Given the description of an element on the screen output the (x, y) to click on. 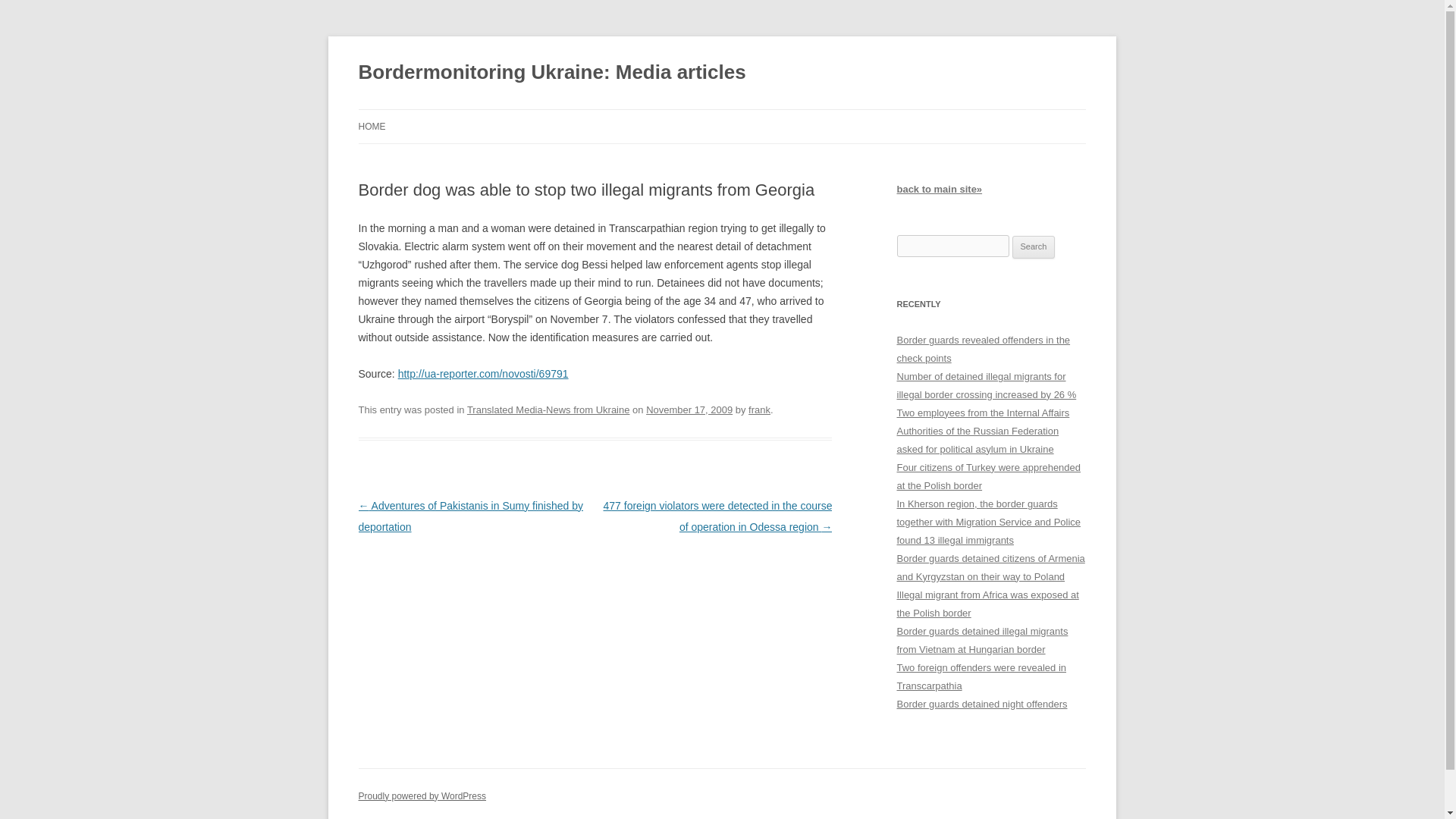
Two foreign offenders were revealed in Transcarpathia (980, 676)
November 17, 2009 (689, 409)
Illegal migrant from Africa was exposed at the Polish border (987, 603)
View all posts by frank (759, 409)
Border guards detained night offenders (981, 704)
Search (1033, 246)
